Given the description of an element on the screen output the (x, y) to click on. 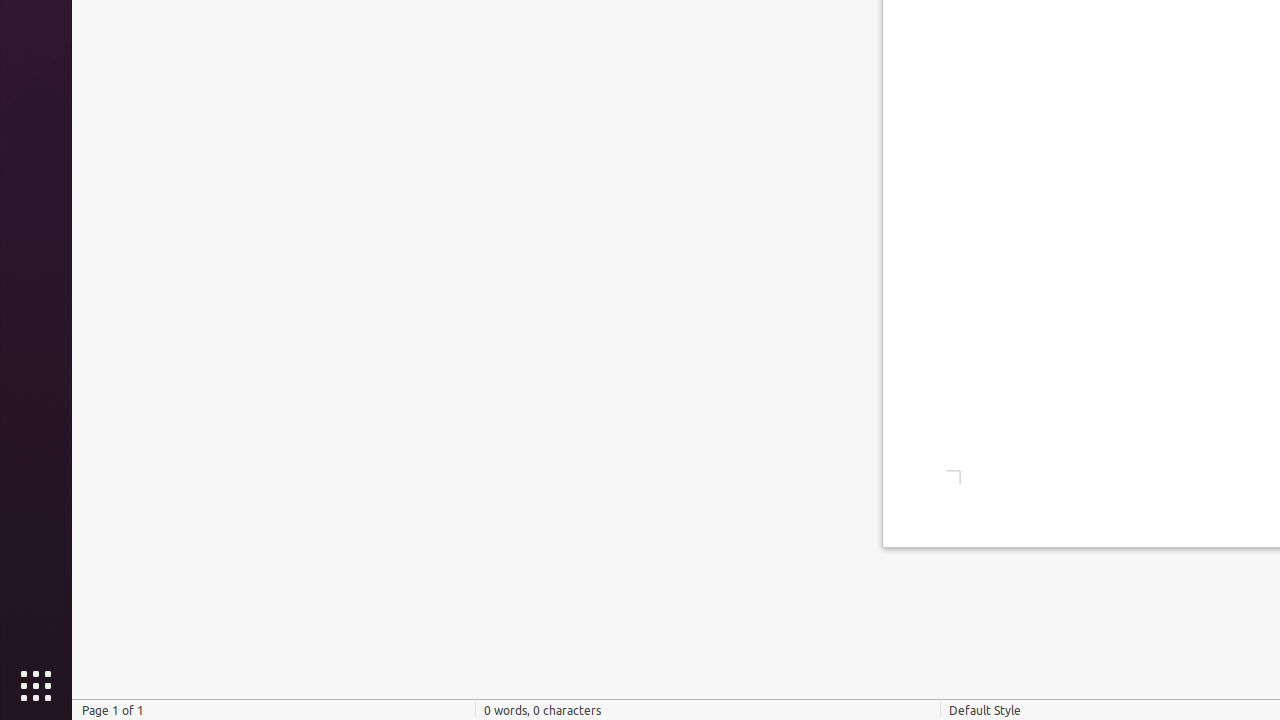
Show Applications Element type: toggle-button (36, 686)
